Given the description of an element on the screen output the (x, y) to click on. 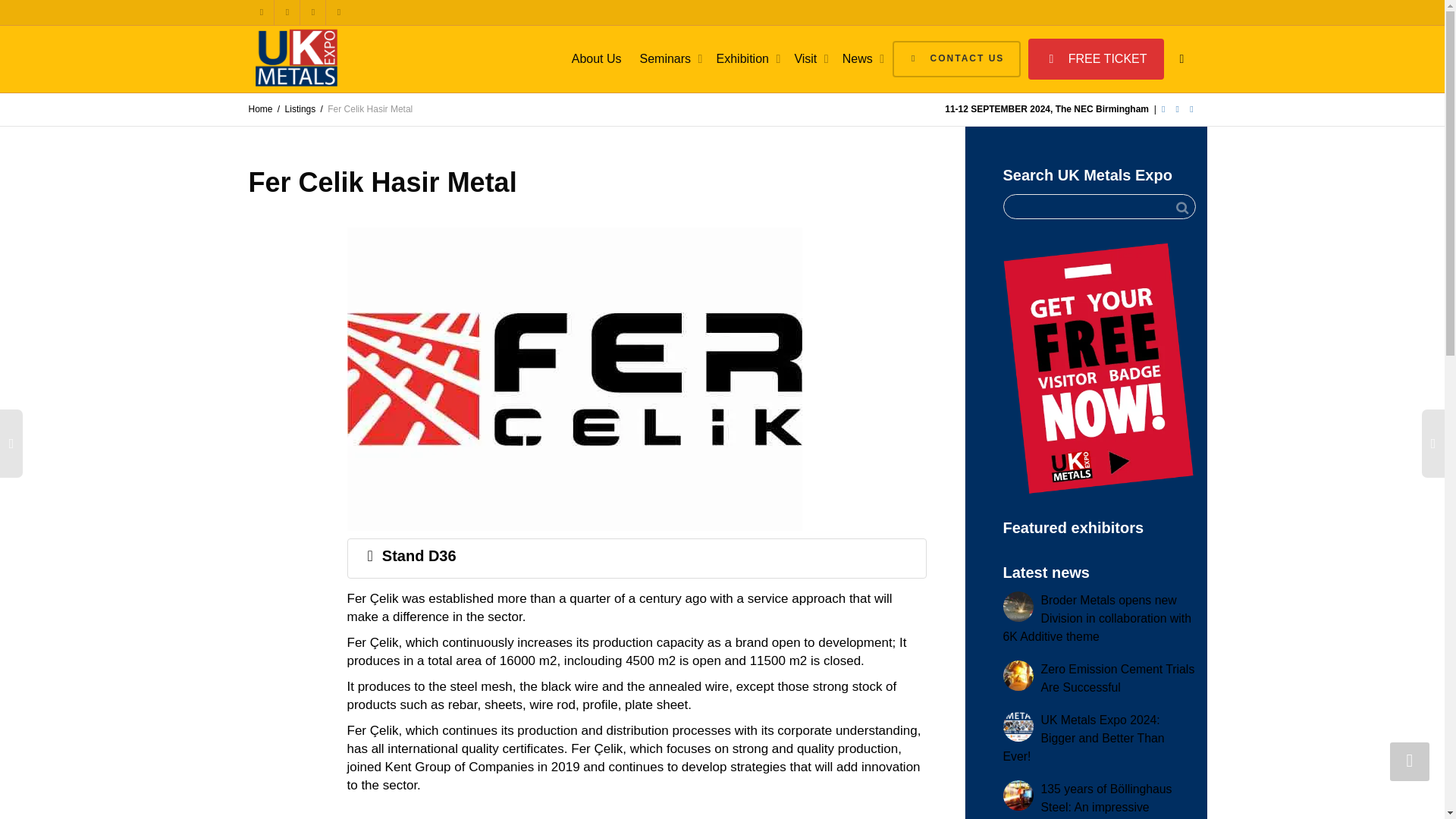
Home (260, 109)
Listings (300, 109)
Search (1181, 208)
Exhibition (746, 58)
FREE TICKET (1095, 58)
UK Metals Expo (297, 57)
Exhibition (746, 58)
CONTACT US (956, 58)
Search (1181, 208)
